Given the description of an element on the screen output the (x, y) to click on. 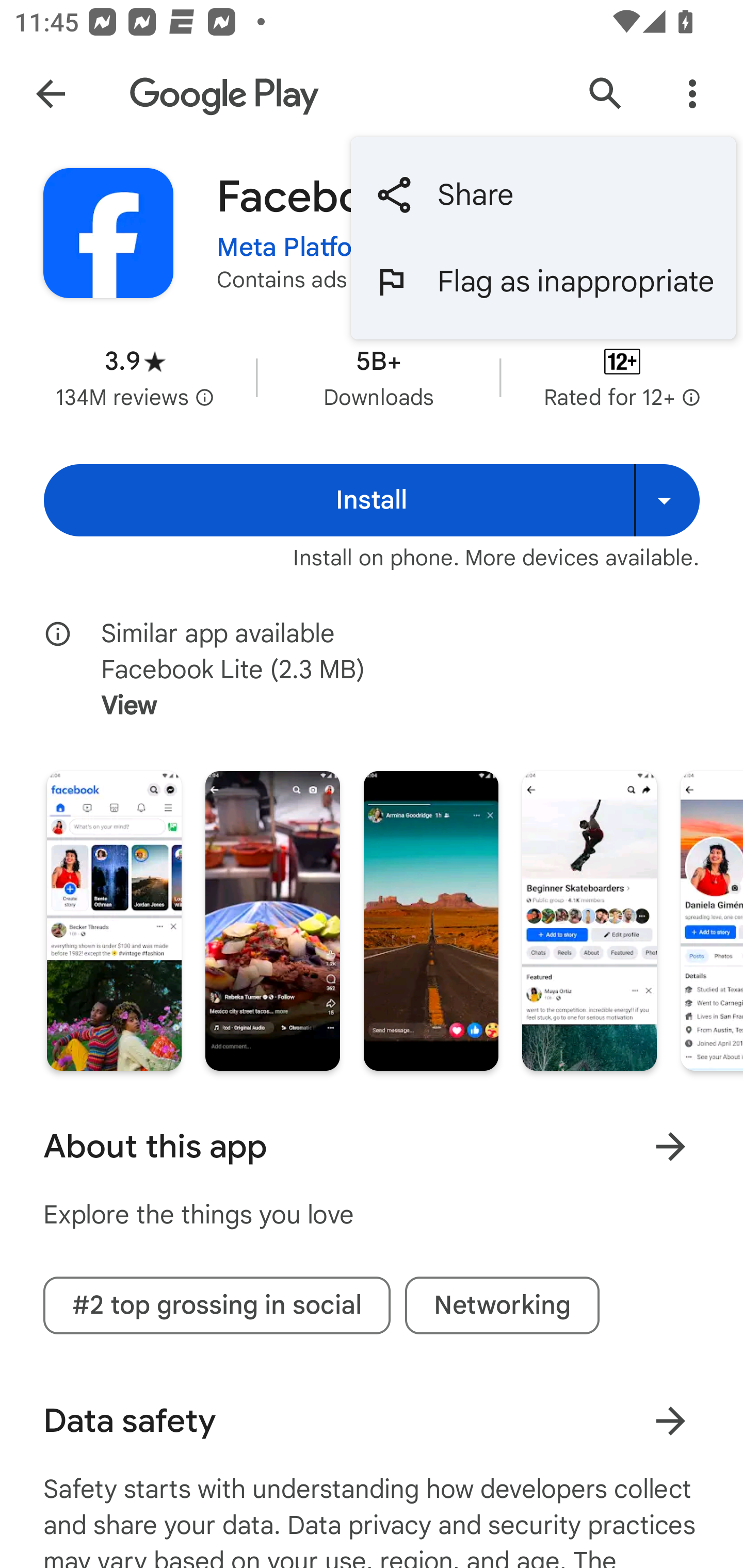
Share (542, 195)
Flag as inappropriate (542, 281)
